Given the description of an element on the screen output the (x, y) to click on. 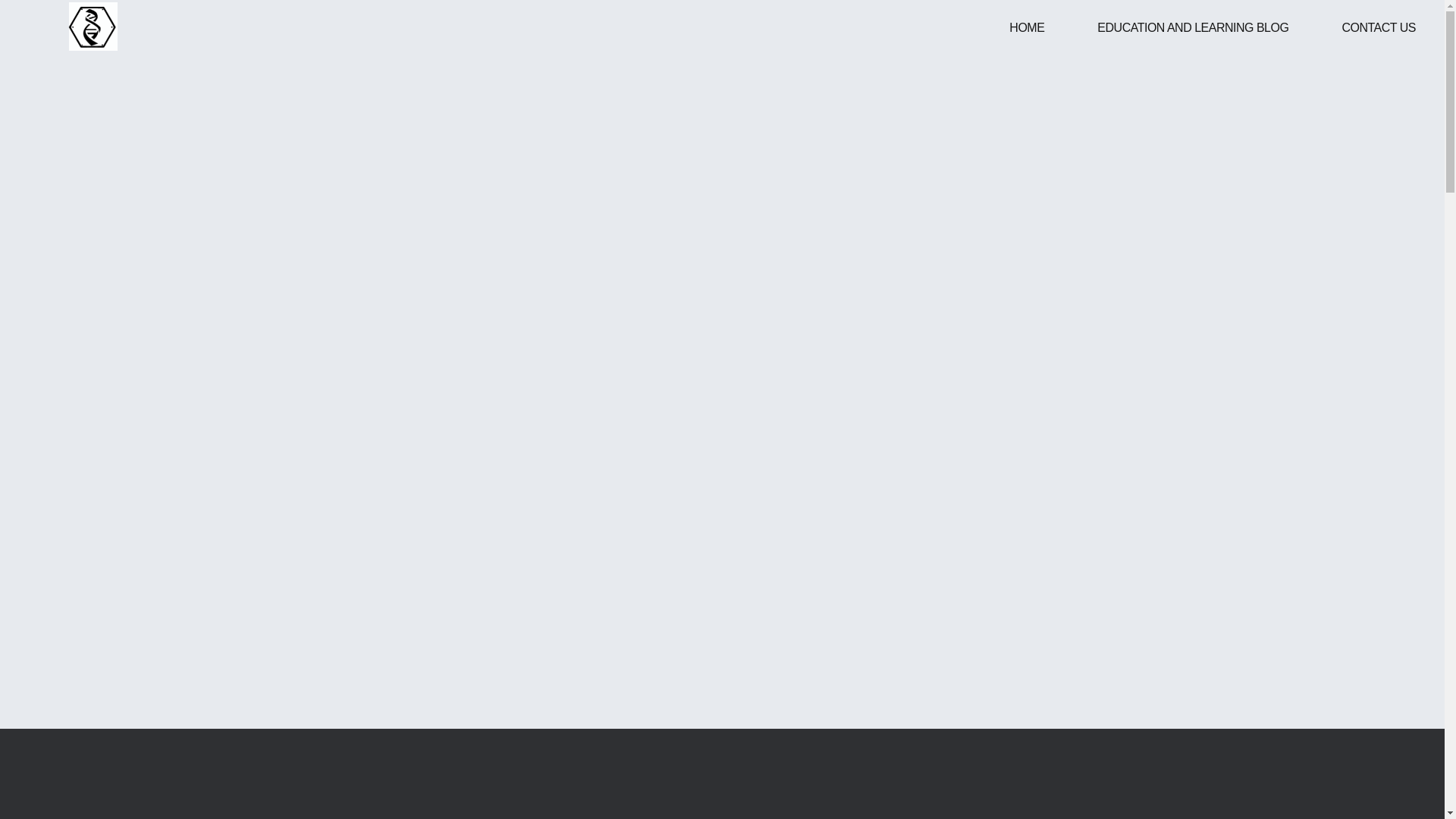
HOME (1026, 27)
CONTACT US (1377, 27)
EDUCATION AND LEARNING BLOG (1192, 27)
